Given the description of an element on the screen output the (x, y) to click on. 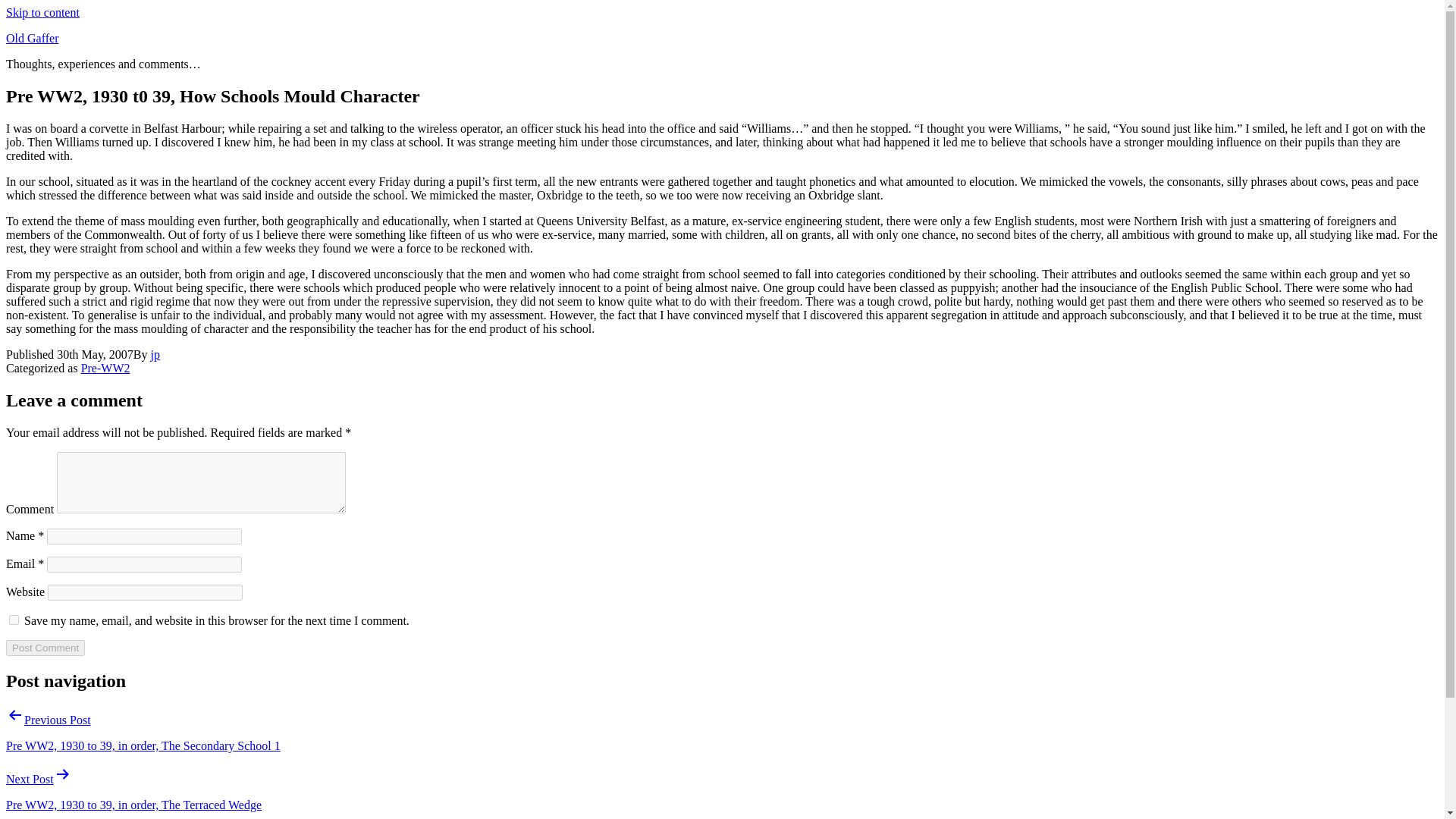
Skip to content (42, 11)
Old Gaffer (31, 38)
Pre-WW2 (106, 367)
jp (155, 354)
Post Comment (44, 647)
Post Comment (44, 647)
yes (13, 619)
